Given the description of an element on the screen output the (x, y) to click on. 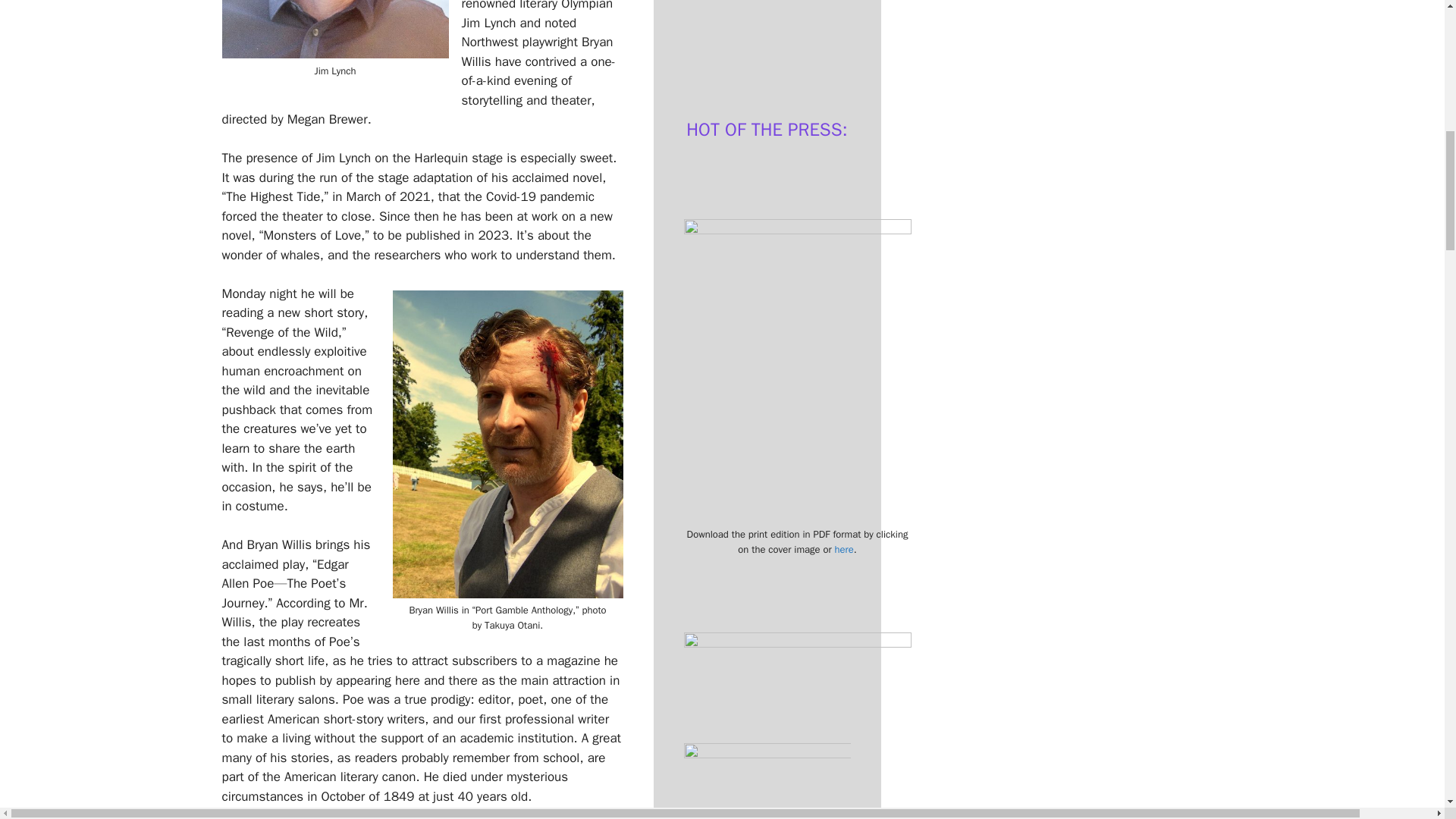
Scroll back to top (1406, 708)
